Given the description of an element on the screen output the (x, y) to click on. 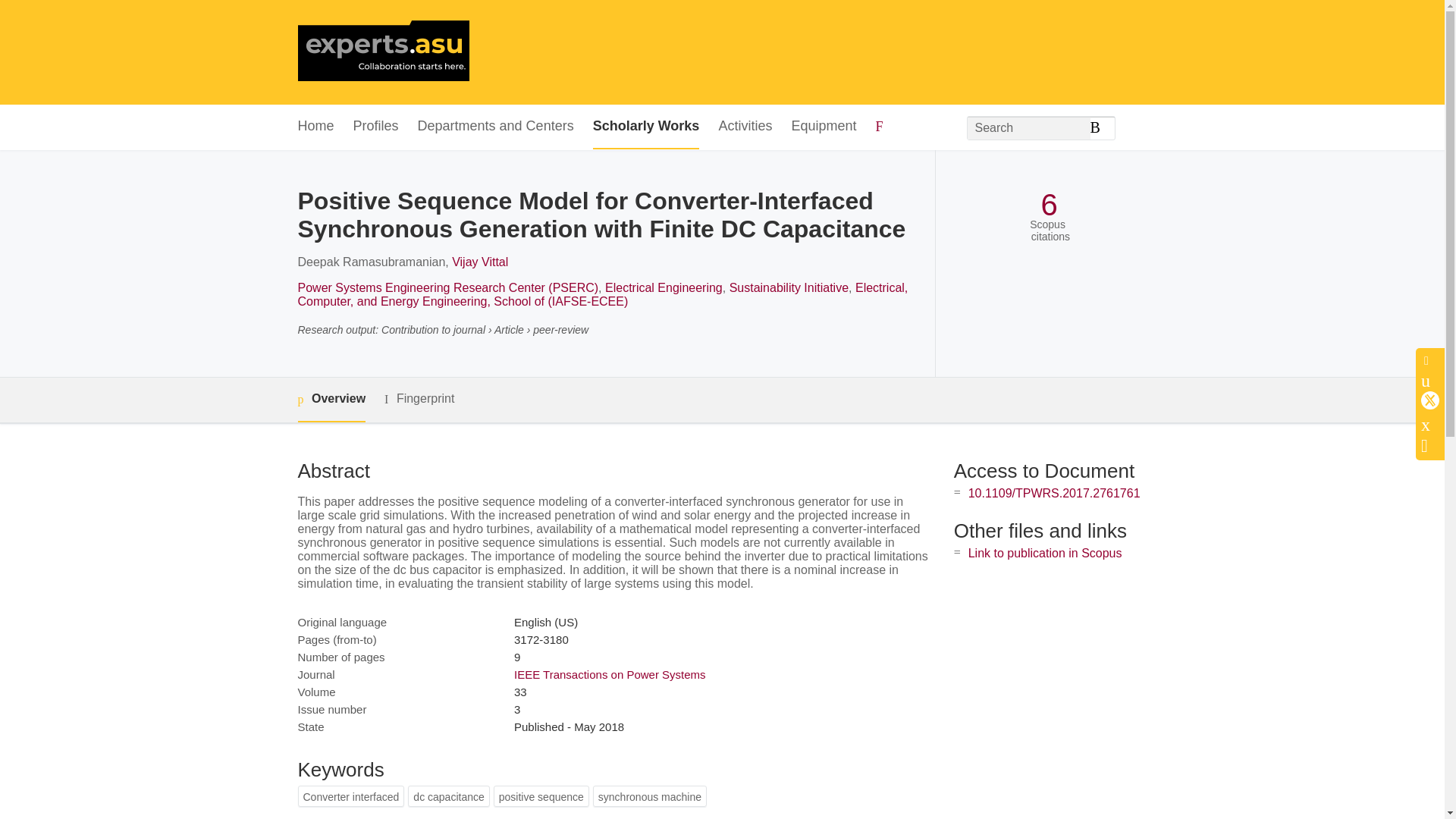
Departments and Centers (495, 126)
Electrical Engineering (663, 287)
Profiles (375, 126)
Fingerprint (419, 398)
Sustainability Initiative (788, 287)
Scholarly Works (646, 126)
Equipment (823, 126)
Home (315, 126)
Vijay Vittal (479, 261)
Overview (331, 399)
Link to publication in Scopus (1045, 553)
IEEE Transactions on Power Systems (609, 674)
Arizona State University Home (382, 52)
Activities (744, 126)
